Given the description of an element on the screen output the (x, y) to click on. 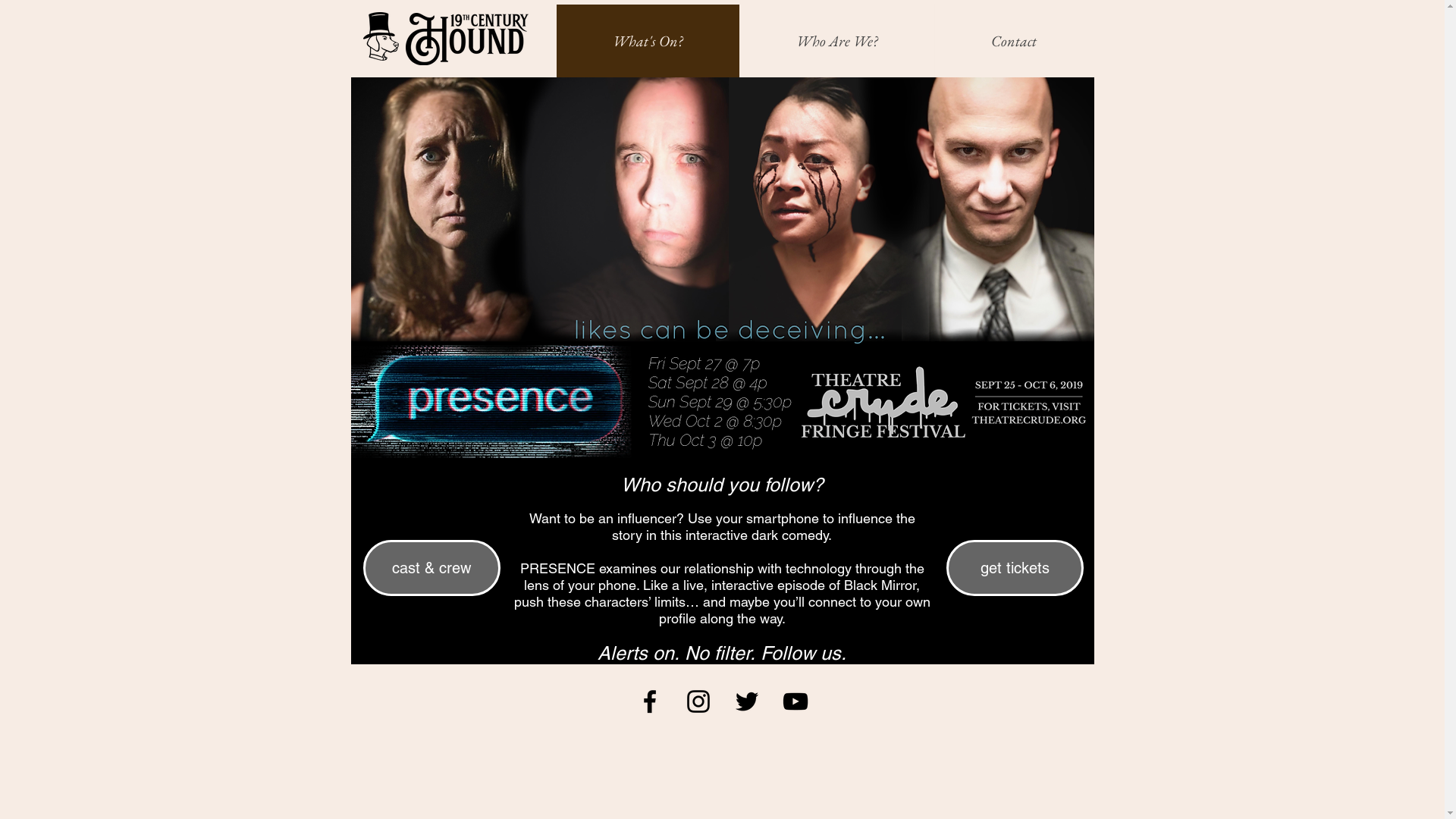
Contact Element type: text (1013, 40)
Who Are We? Element type: text (835, 40)
cast & crew Element type: text (430, 567)
get tickets Element type: text (1014, 567)
What's On? Element type: text (647, 40)
